Given the description of an element on the screen output the (x, y) to click on. 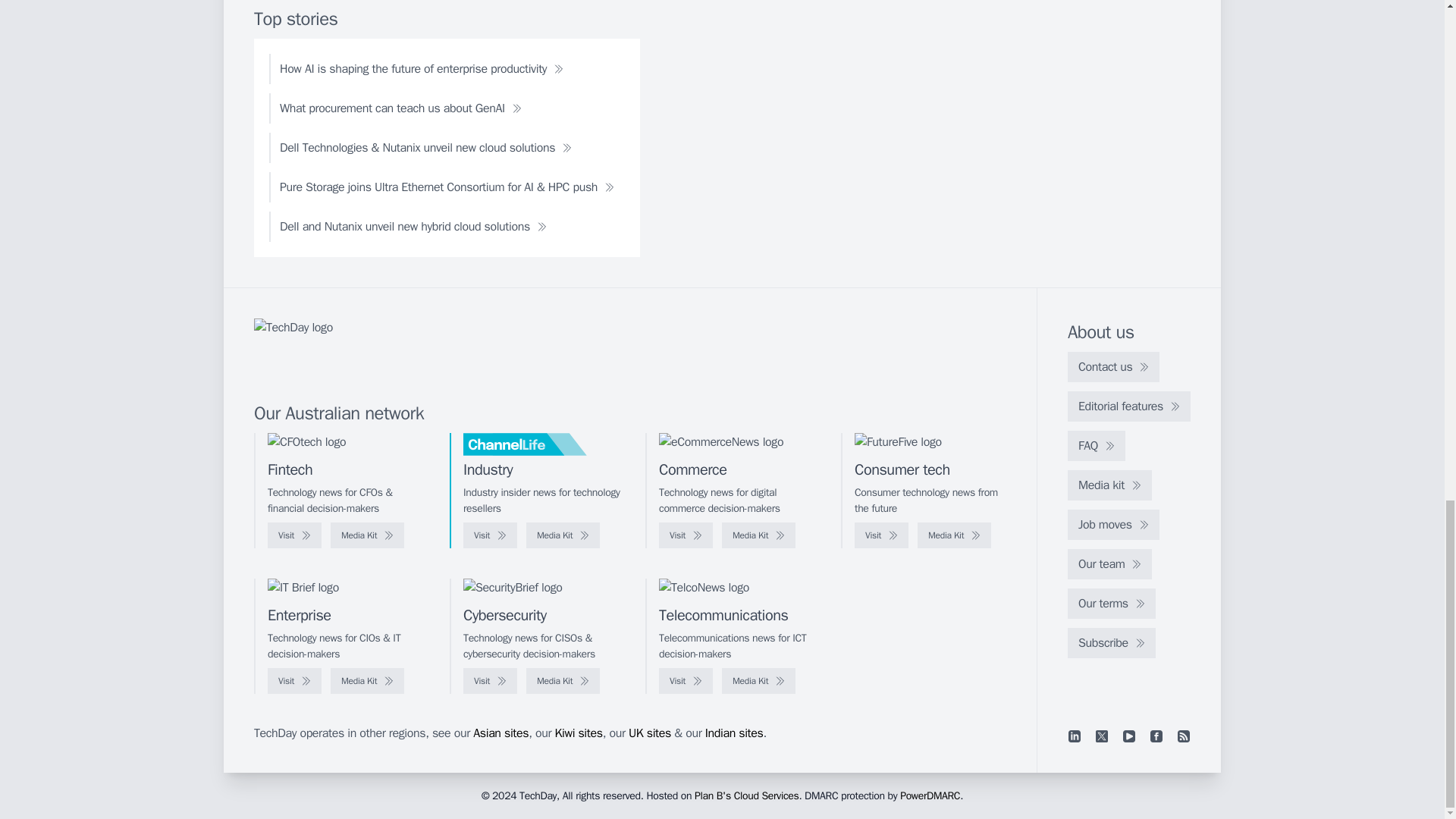
Visit (686, 534)
What procurement can teach us about GenAI (400, 108)
Media Kit (758, 534)
Dell and Nutanix unveil new hybrid cloud solutions (413, 226)
Media Kit (367, 534)
How AI is shaping the future of enterprise productivity (421, 69)
Visit (881, 534)
Media Kit (954, 534)
Visit (294, 534)
Media Kit (562, 534)
